Given the description of an element on the screen output the (x, y) to click on. 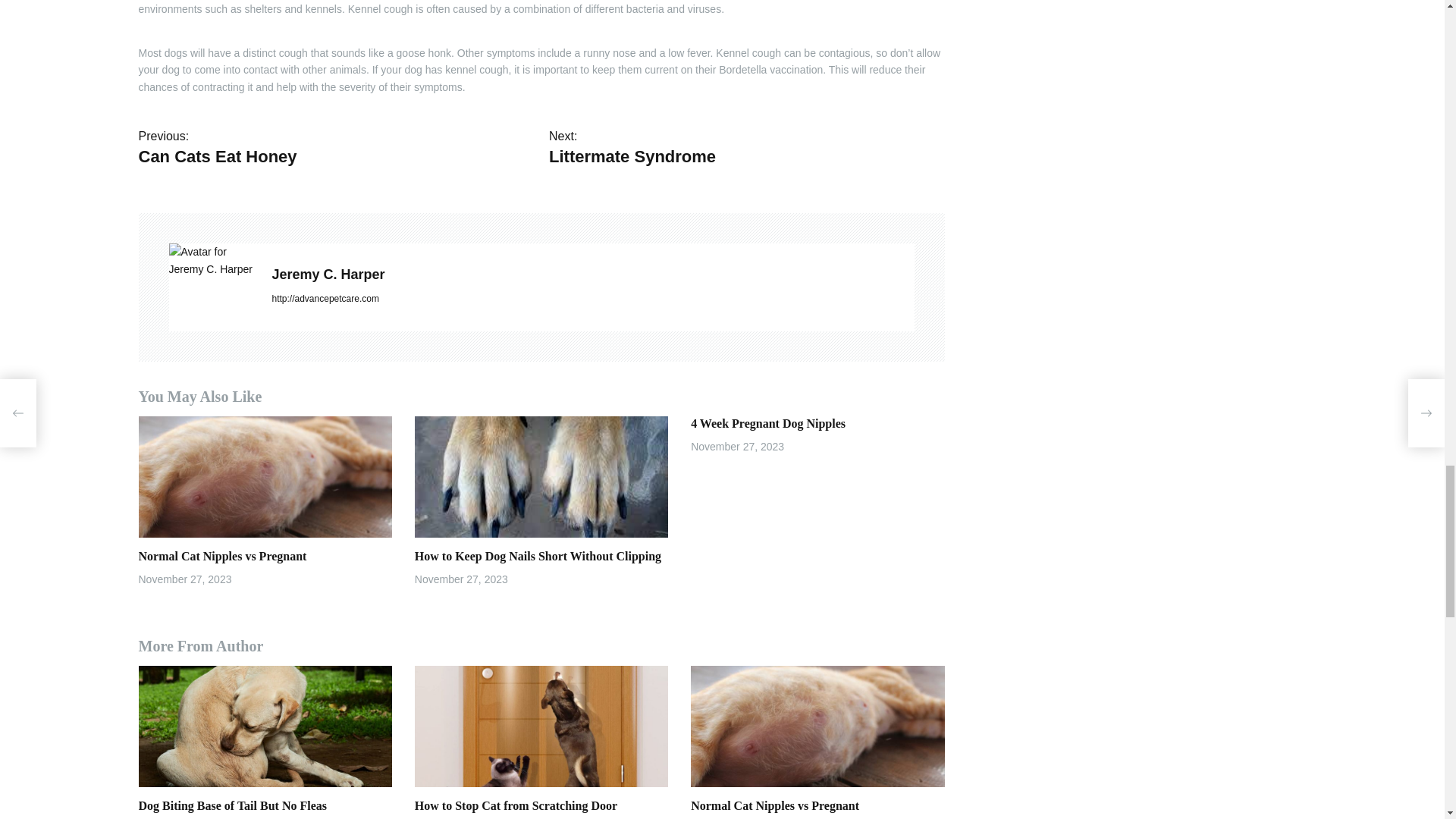
Jeremy C. Harper (746, 146)
Jeremy C. Harper (592, 274)
Jeremy C. Harper (592, 274)
